Given the description of an element on the screen output the (x, y) to click on. 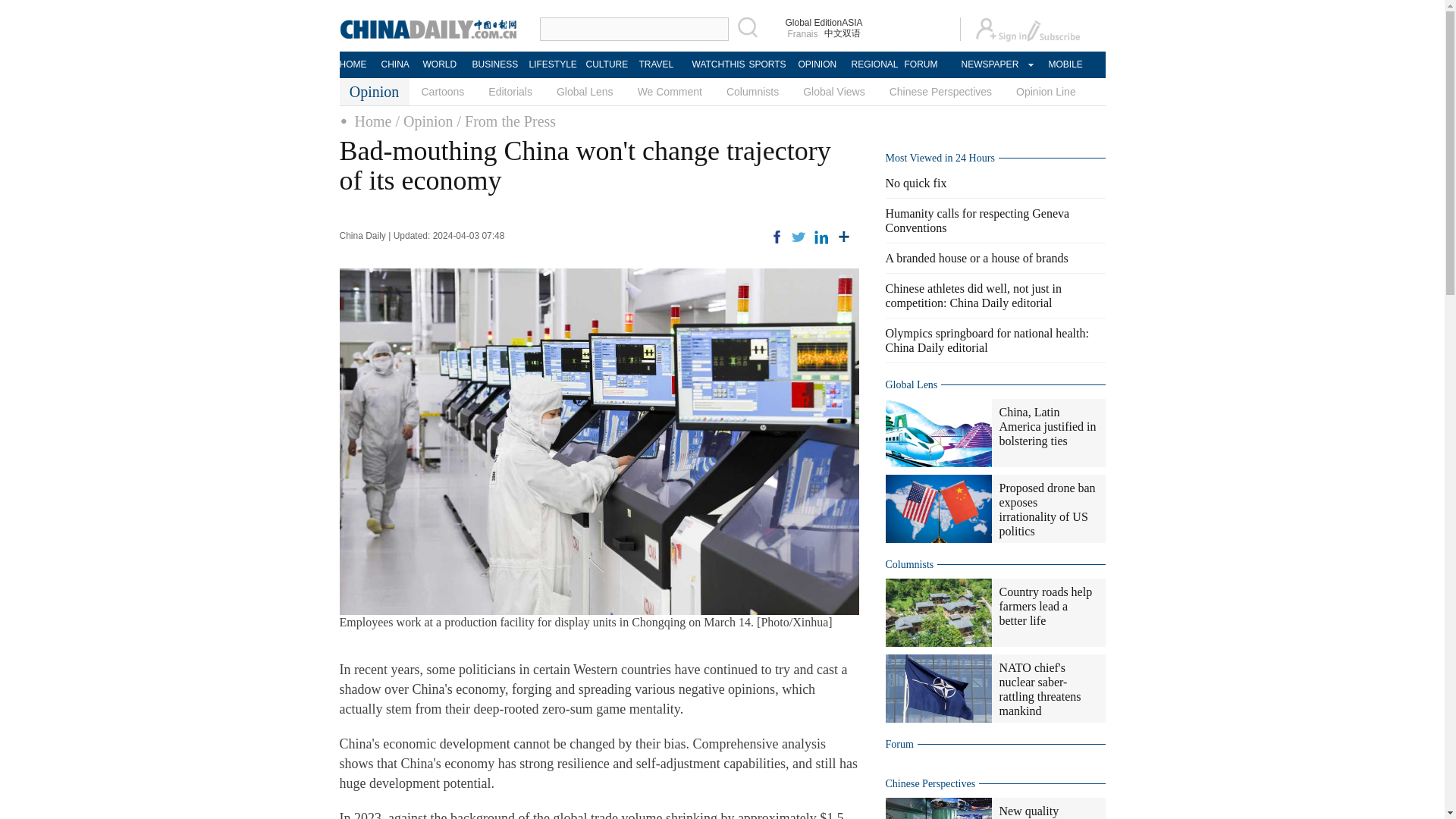
Home (373, 121)
Opinion Line (1045, 91)
We Comment (670, 91)
Global Lens (585, 91)
Columnists (752, 91)
NEWSPAPER (988, 64)
Chinese Perspectives (940, 91)
Editorials (510, 91)
Franais (803, 33)
Cartoons (443, 91)
